Given the description of an element on the screen output the (x, y) to click on. 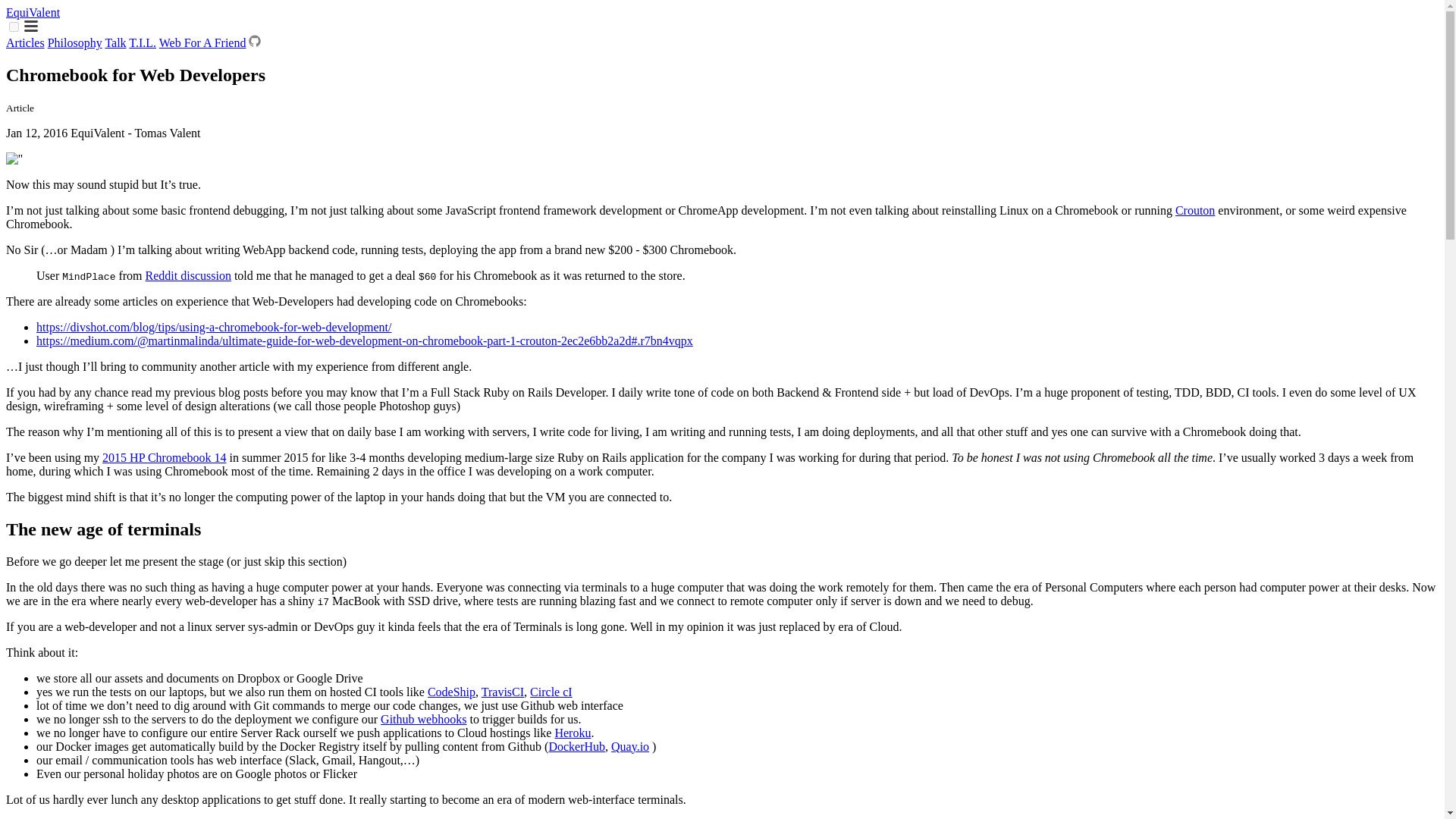
Heroku (572, 732)
Talk (114, 42)
2015 HP Chromebook 14 (163, 457)
Circle cI (550, 691)
Articles (25, 42)
T.I.L. (142, 42)
Reddit discussion (188, 275)
Github webhooks (422, 718)
EquiValent (32, 11)
Crouton (1194, 210)
Quay.io (630, 746)
on (13, 26)
DockerHub (576, 746)
CodeShip (452, 691)
TravisCI (502, 691)
